Given the description of an element on the screen output the (x, y) to click on. 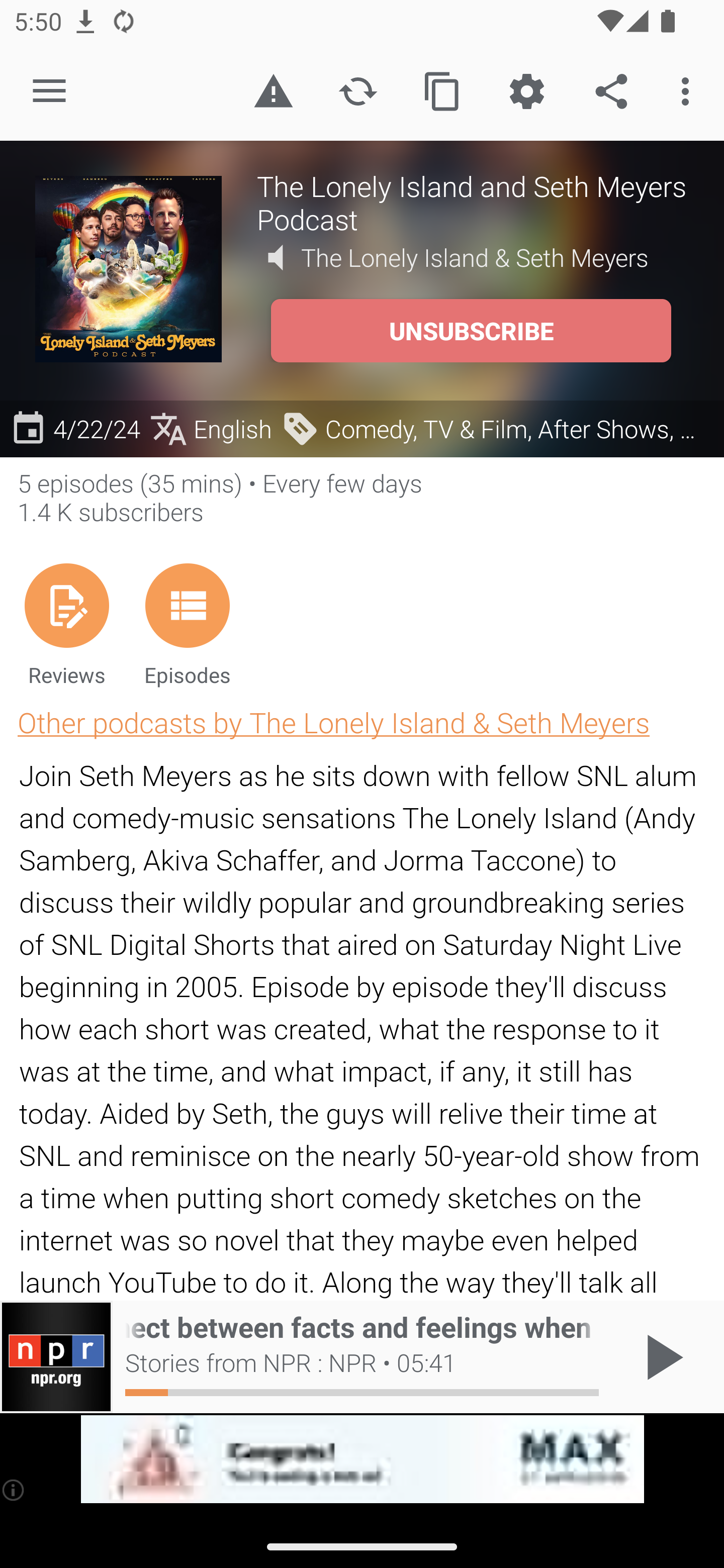
Open navigation sidebar (49, 91)
Report inappropriate content (272, 90)
Refresh podcast description (357, 90)
Copy feed url to clipboard (442, 90)
Custom Settings (526, 90)
Share the podcast (611, 90)
More options (688, 90)
The Lonely Island and Seth Meyers Podcast (472, 202)
The Lonely Island & Seth Meyers (475, 257)
UNSUBSCRIBE (470, 330)
Reviews (66, 623)
Episodes (187, 623)
Other podcasts by The Lonely Island & Seth Meyers (333, 721)
Play / Pause (660, 1356)
app-monetization (362, 1459)
(i) (14, 1489)
